Given the description of an element on the screen output the (x, y) to click on. 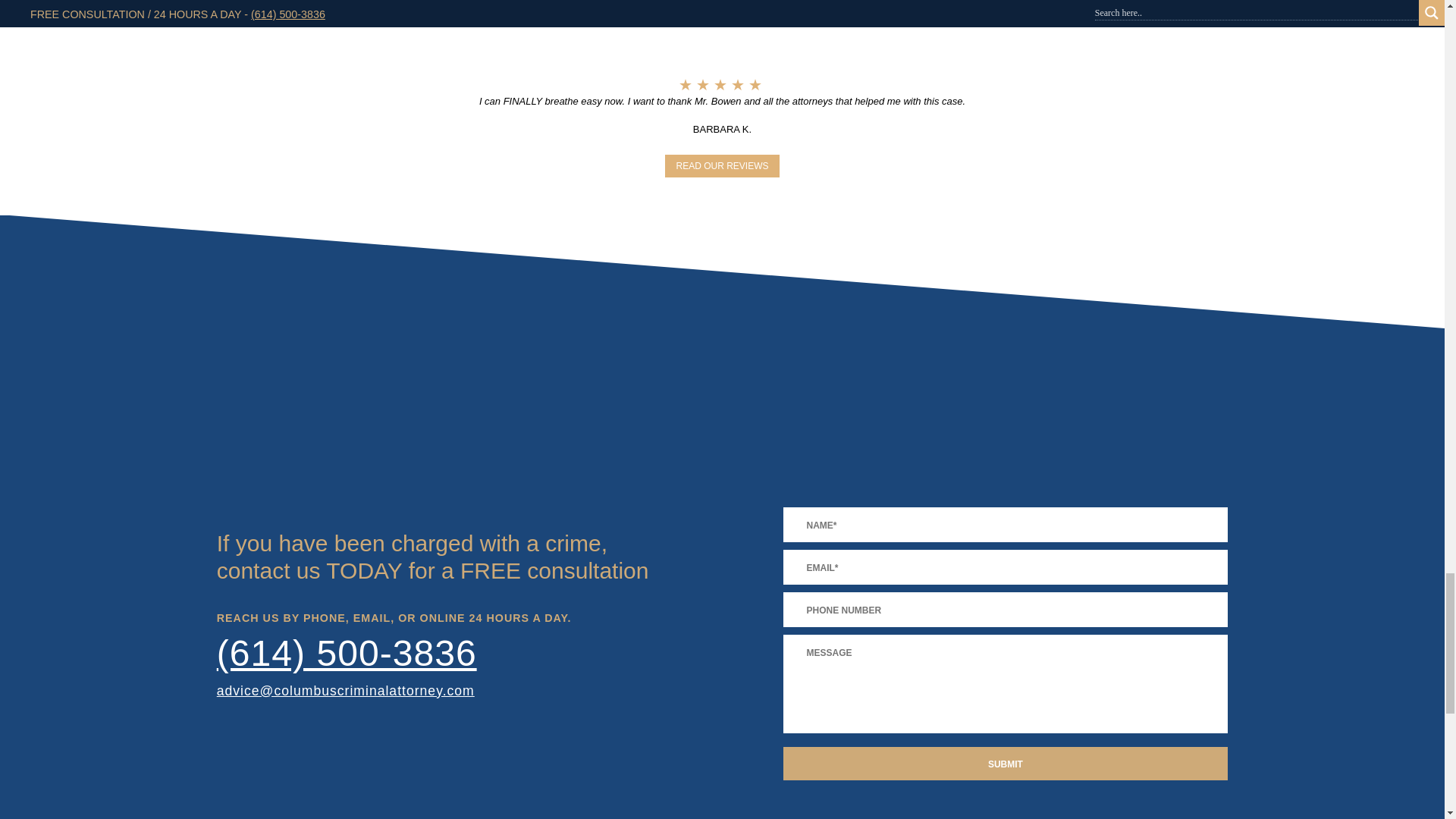
Submit (1005, 763)
Email us today (345, 690)
Review our Firm (721, 165)
Luftman, Heck and Associates (439, 653)
